Given the description of an element on the screen output the (x, y) to click on. 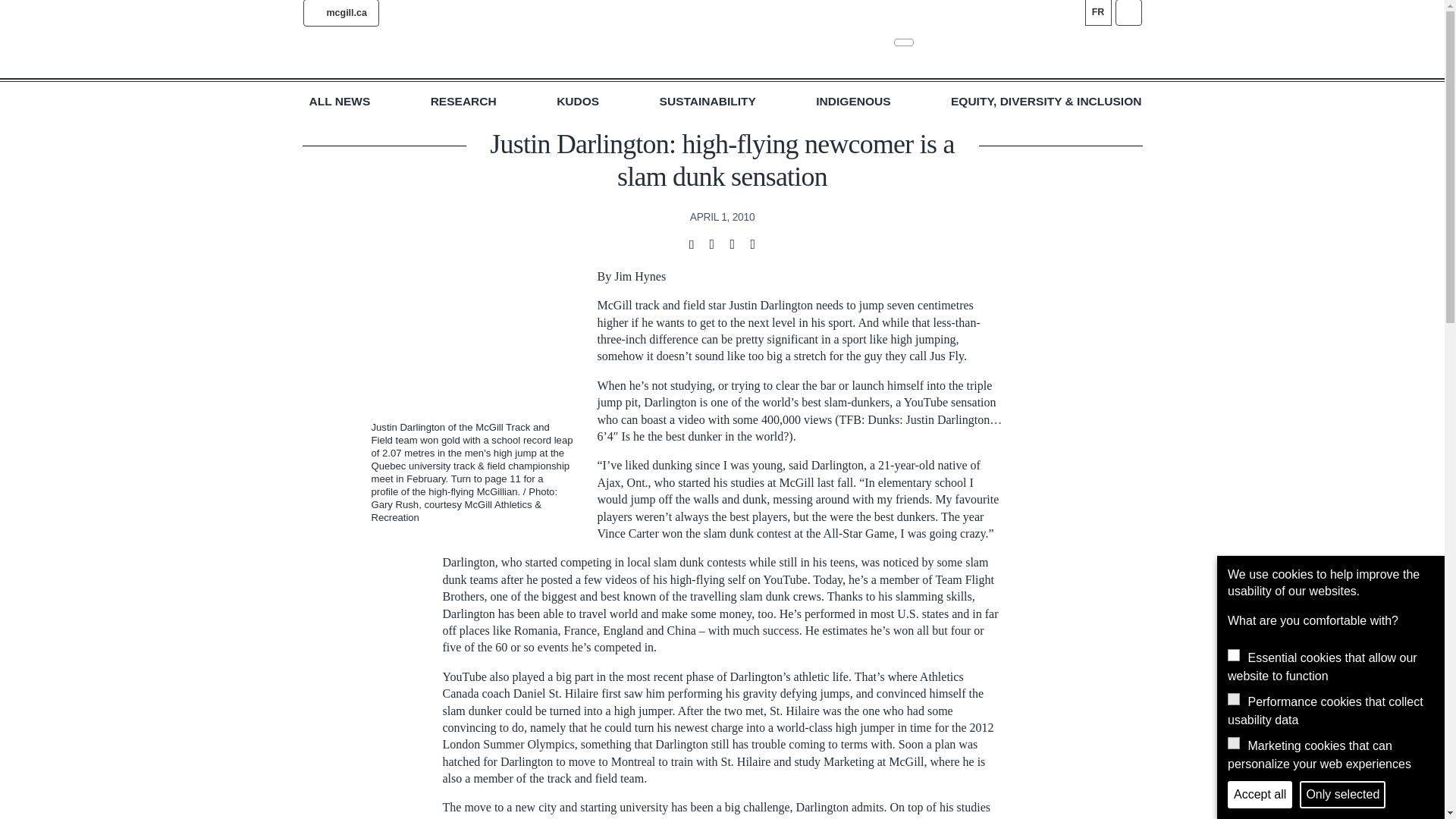
FR (1097, 12)
RESEARCH (463, 101)
mcgill.ca (340, 13)
KUDOS (576, 101)
SUSTAINABILITY (707, 101)
ALL NEWS (339, 101)
marketing (1233, 743)
required (1233, 654)
performance (1233, 698)
INDIGENOUS (852, 101)
